Given the description of an element on the screen output the (x, y) to click on. 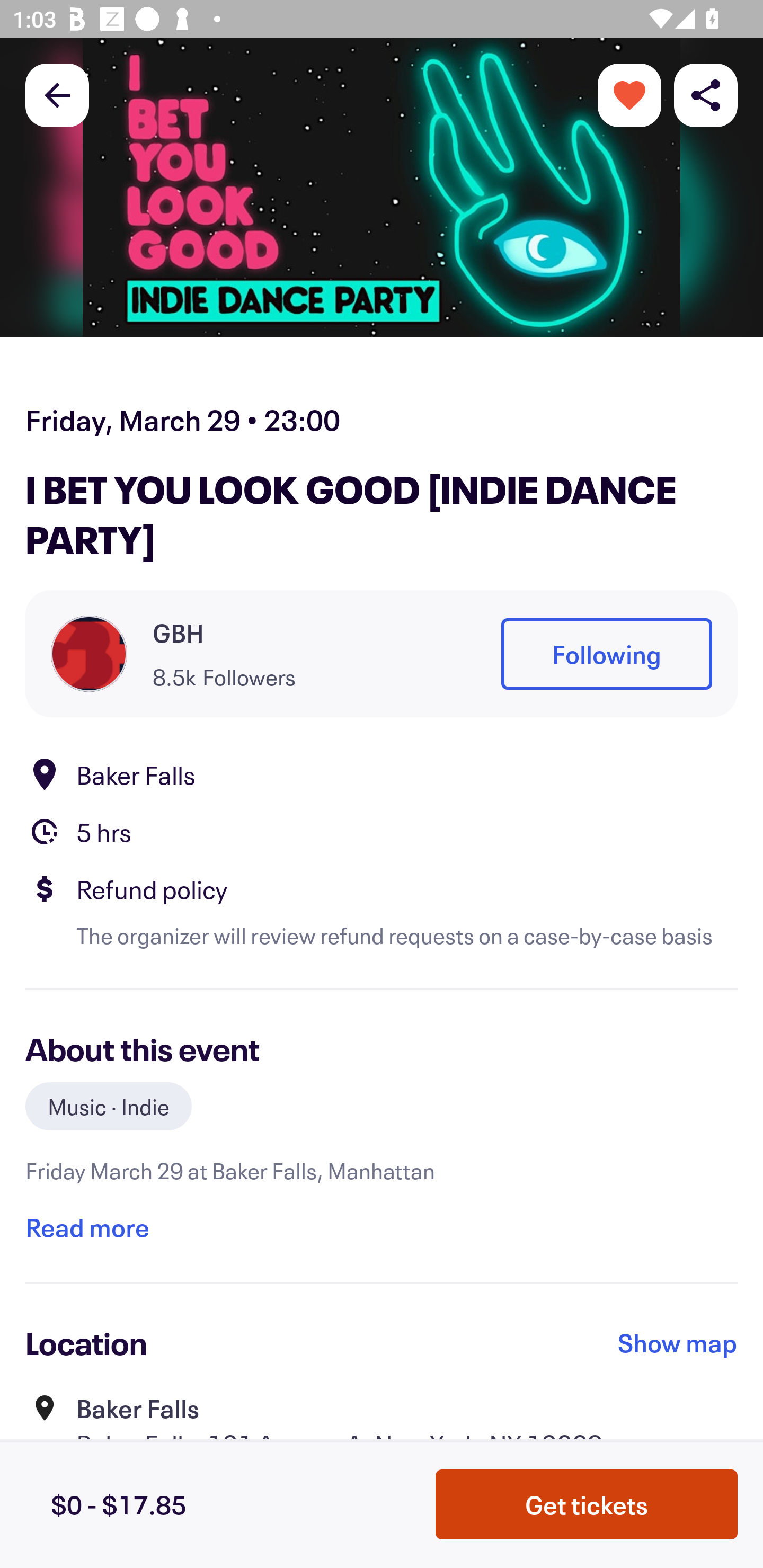
Back (57, 94)
More (629, 94)
Share (705, 94)
GBH (178, 632)
Organizer profile picture (89, 653)
Following (606, 654)
Location Baker Falls (381, 774)
Read more (87, 1226)
Show map (677, 1342)
Get tickets (586, 1504)
